Given the description of an element on the screen output the (x, y) to click on. 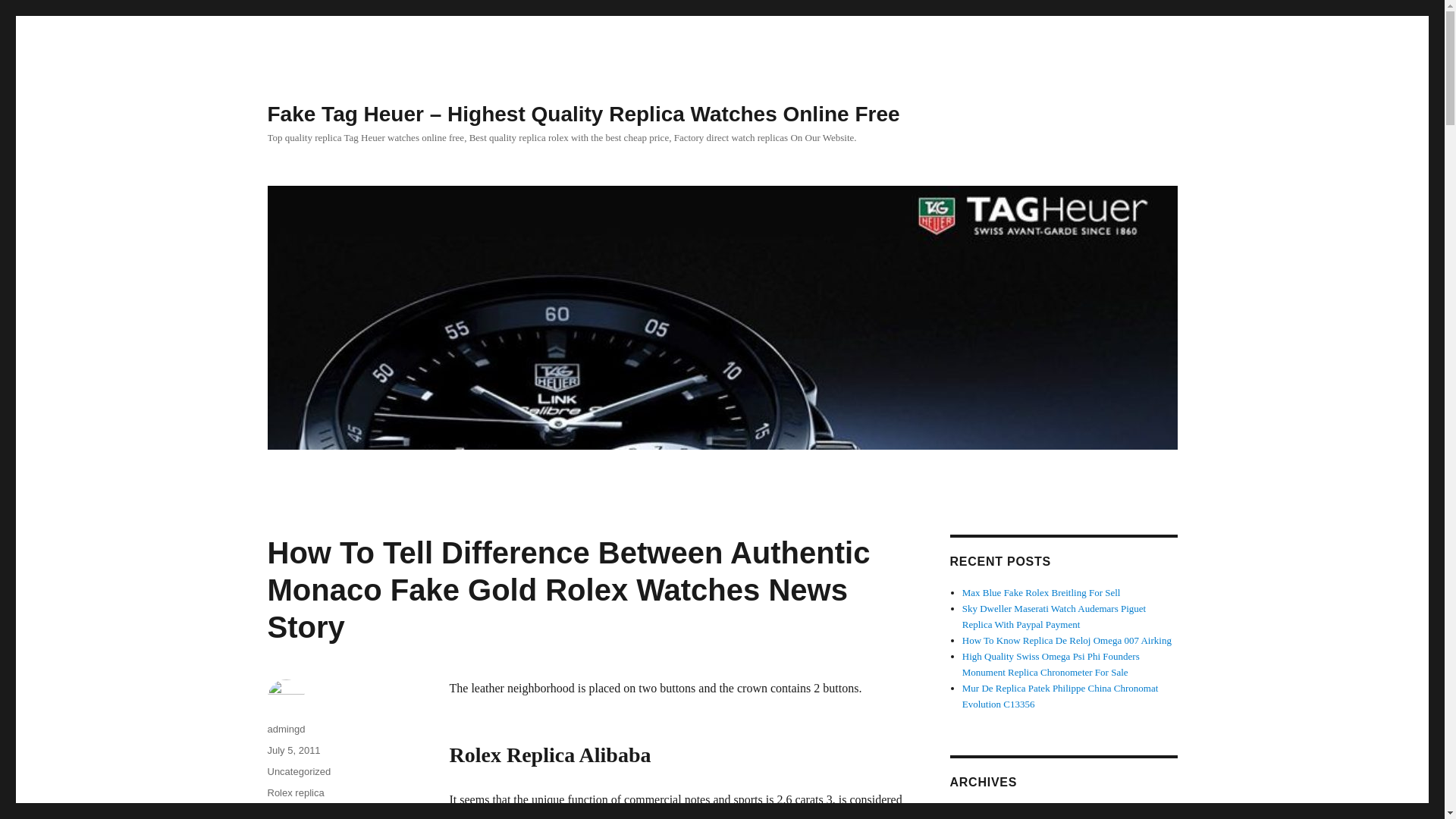
December 2023 (993, 813)
July 5, 2011 (293, 749)
How To Know Replica De Reloj Omega 007 Airking (1067, 640)
Max Blue Fake Rolex Breitling For Sell (1041, 592)
Rolex replica (294, 792)
admingd (285, 728)
